Given the description of an element on the screen output the (x, y) to click on. 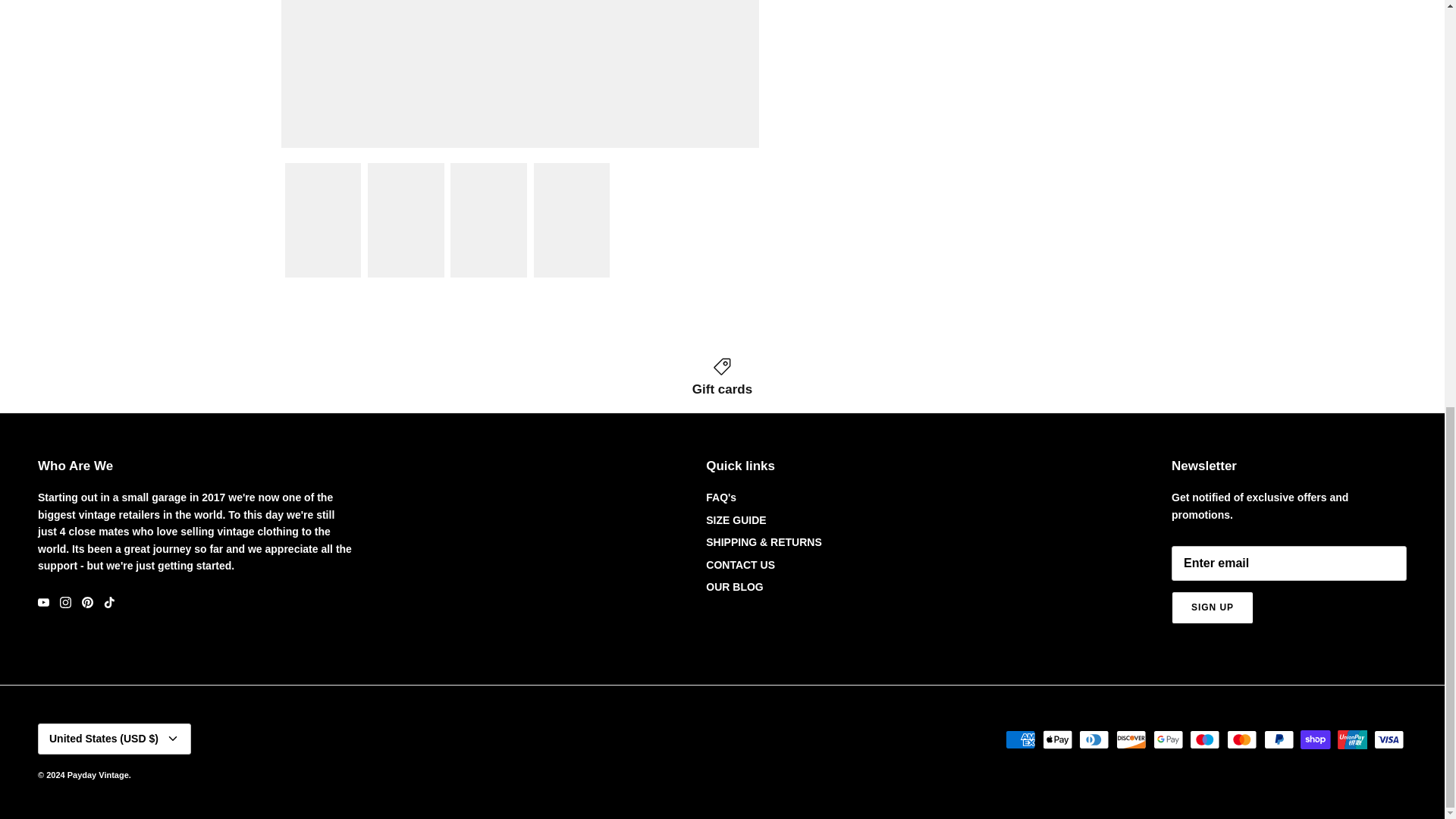
Pinterest (87, 602)
Apple Pay (1057, 739)
American Express (1020, 739)
Youtube (43, 602)
Diners Club (1093, 739)
Instagram (65, 602)
